Given the description of an element on the screen output the (x, y) to click on. 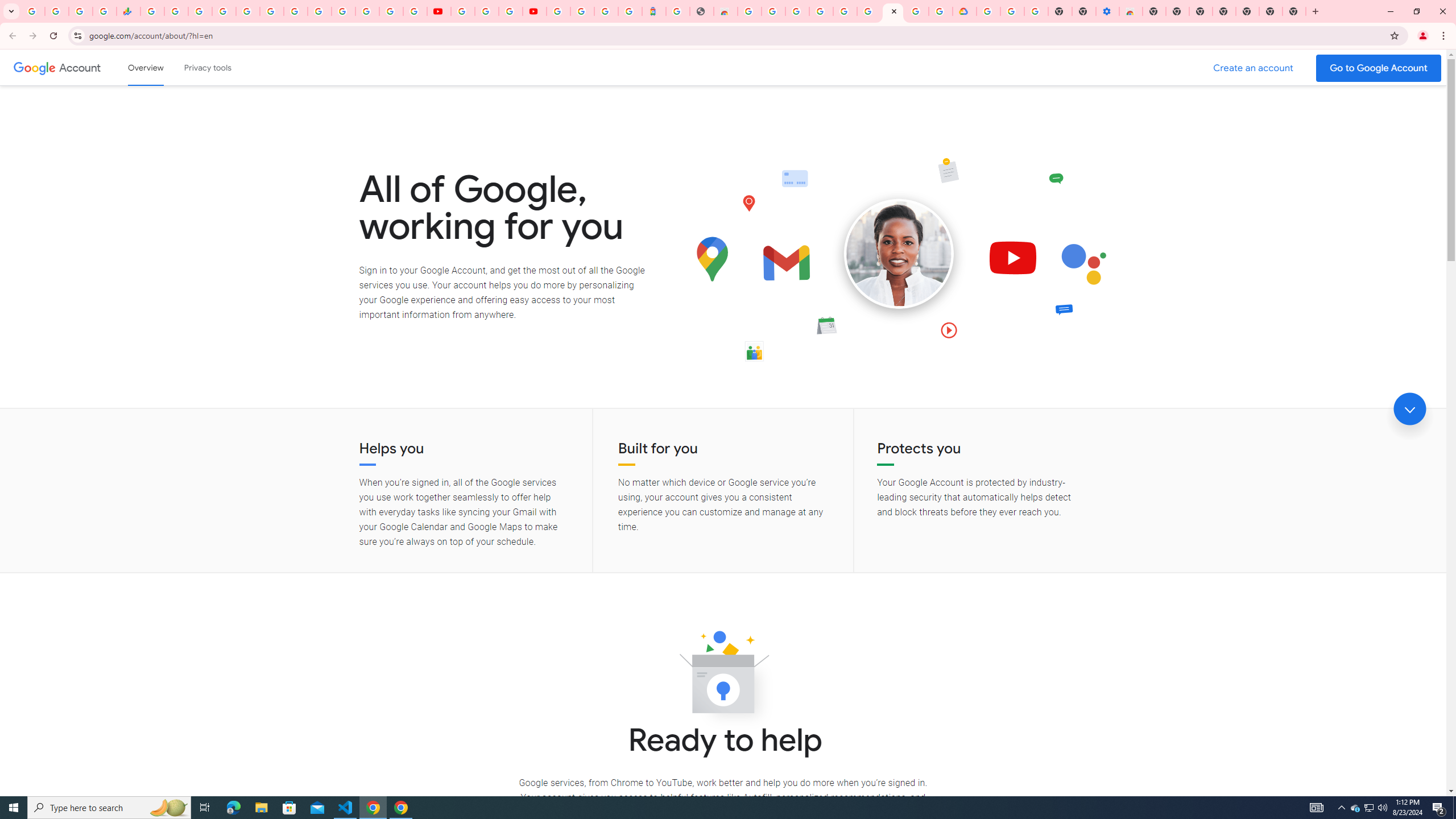
YouTube (438, 11)
Privacy tools (207, 67)
New Tab (1293, 11)
Ad Settings (796, 11)
